Given the description of an element on the screen output the (x, y) to click on. 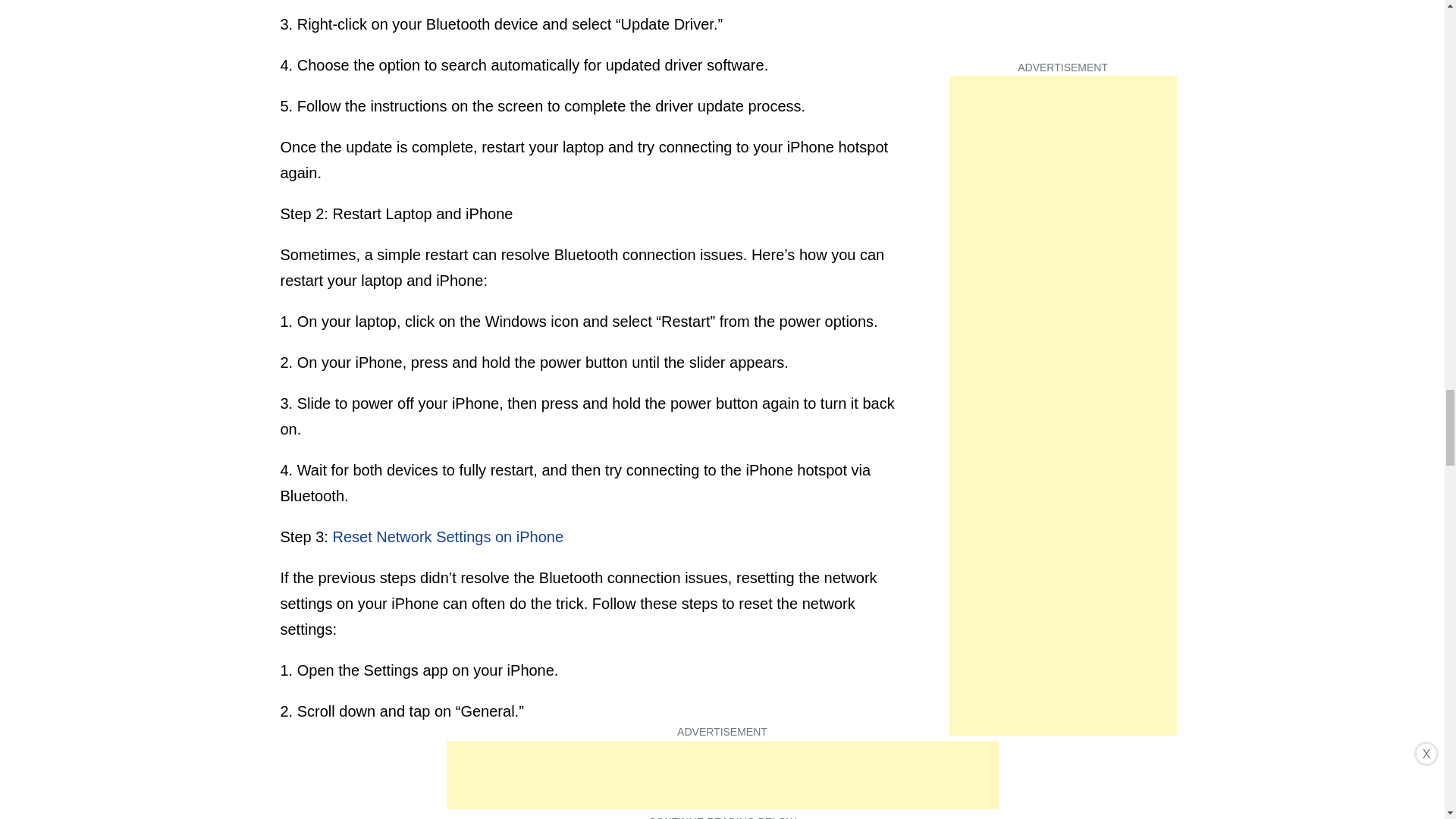
Reset Network Settings on iPhone (447, 536)
